Given the description of an element on the screen output the (x, y) to click on. 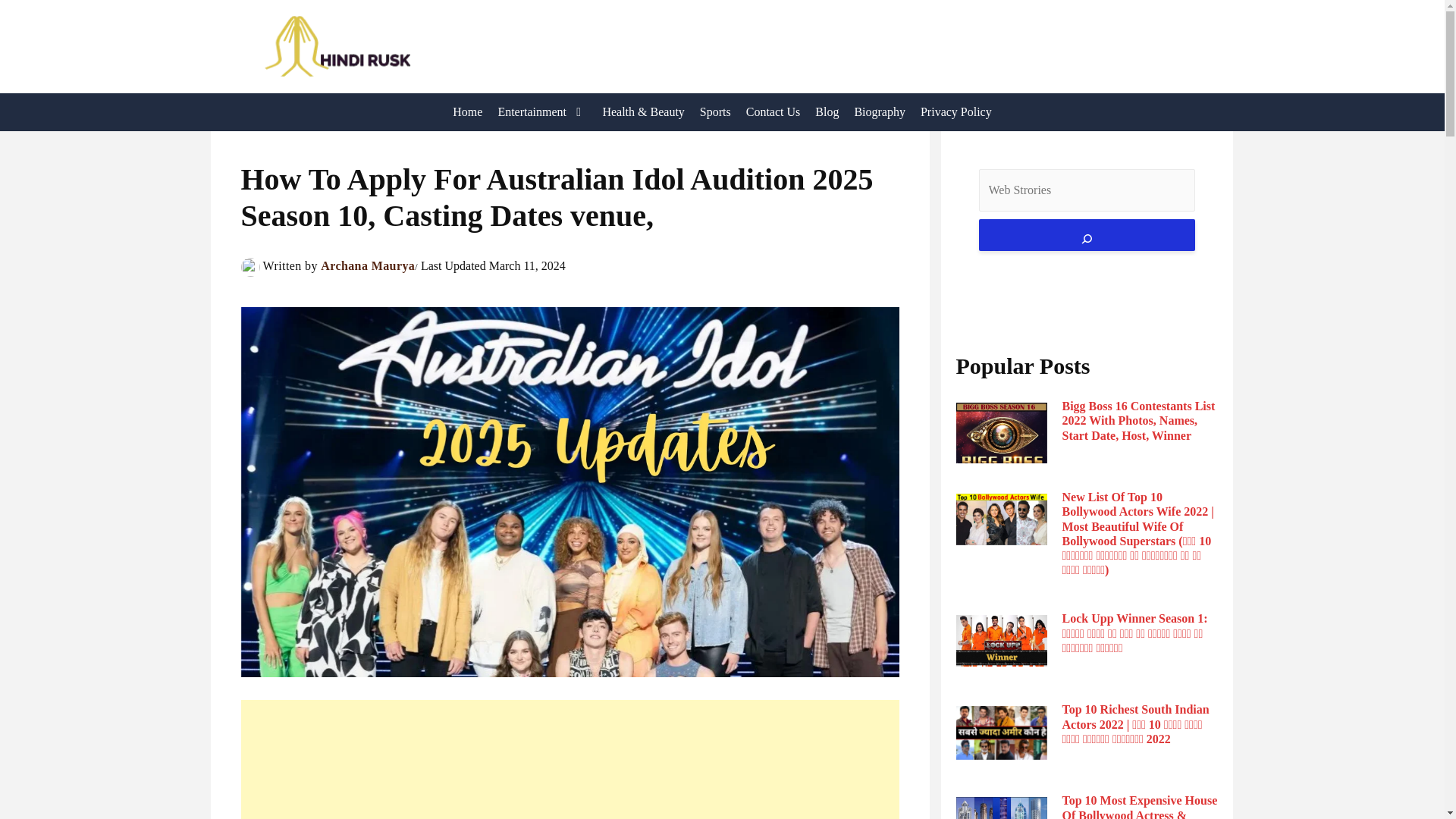
Blog (826, 112)
Archana Maurya (367, 265)
Sports (715, 112)
Contact Us (773, 112)
Posts by Archana Maurya (367, 265)
Home (467, 112)
Entertainment (541, 112)
Advertisement (570, 759)
Biography (878, 112)
Privacy Policy (955, 112)
